Given the description of an element on the screen output the (x, y) to click on. 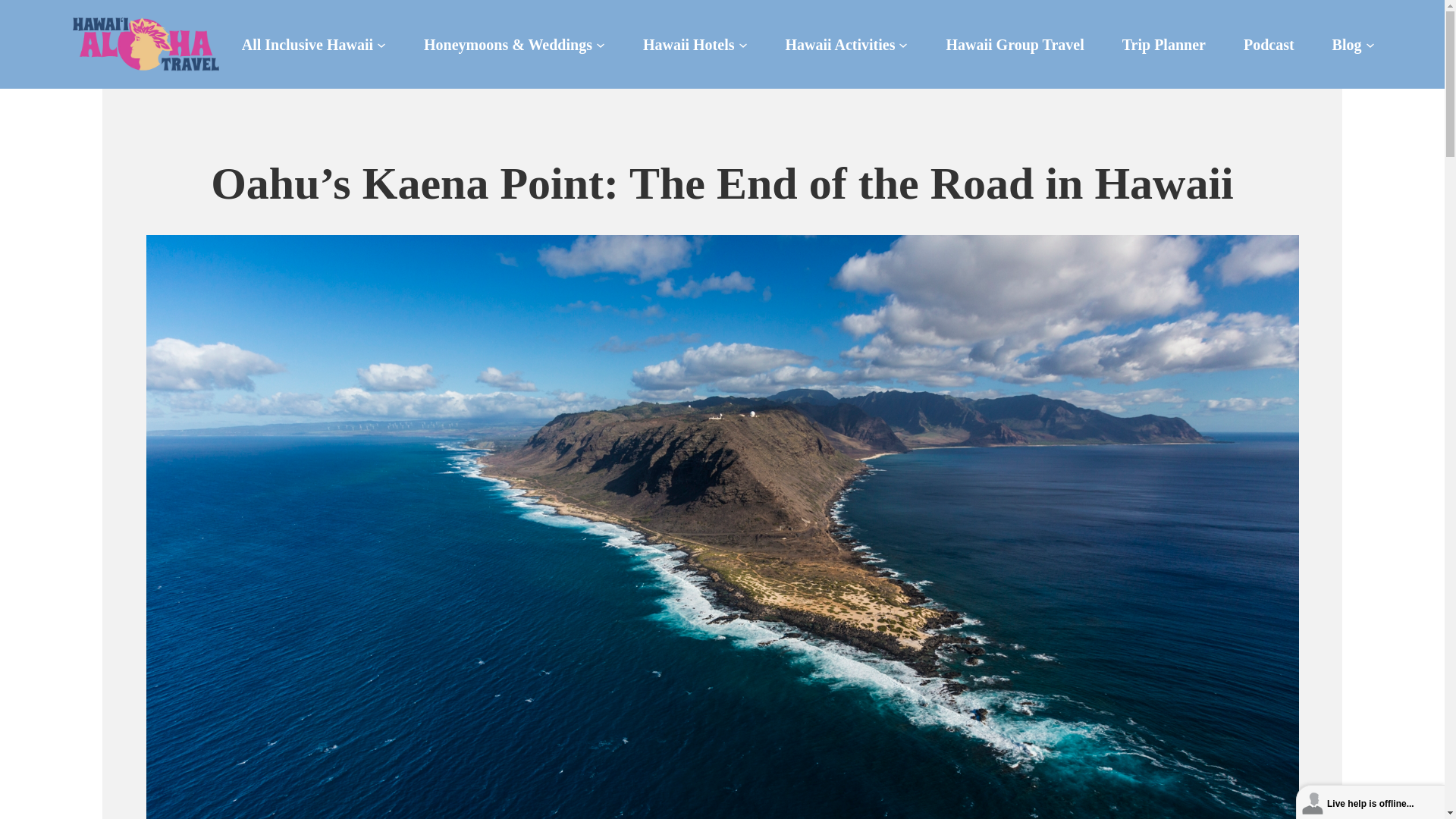
Blog (1346, 44)
Hawaii Hotels (689, 44)
Hawaii Activities (840, 44)
Podcast (1268, 44)
Trip Planner (1163, 44)
Hawaii Group Travel (1013, 44)
All Inclusive Hawaii (306, 44)
